Given the description of an element on the screen output the (x, y) to click on. 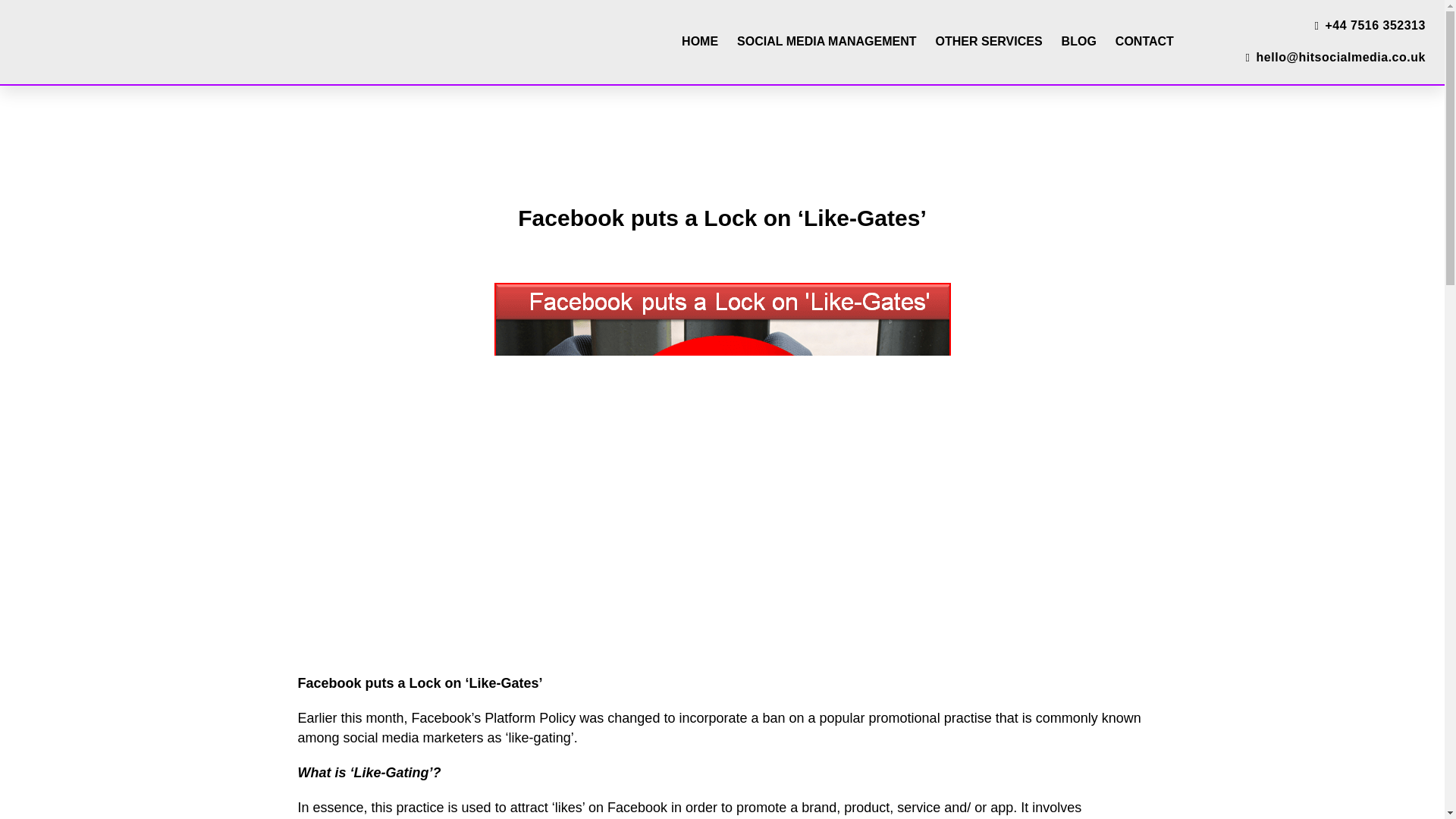
CONTACT (1144, 41)
BLOG (1078, 41)
HOME (699, 41)
SOCIAL MEDIA MANAGEMENT (825, 41)
OTHER SERVICES (989, 41)
